Given the description of an element on the screen output the (x, y) to click on. 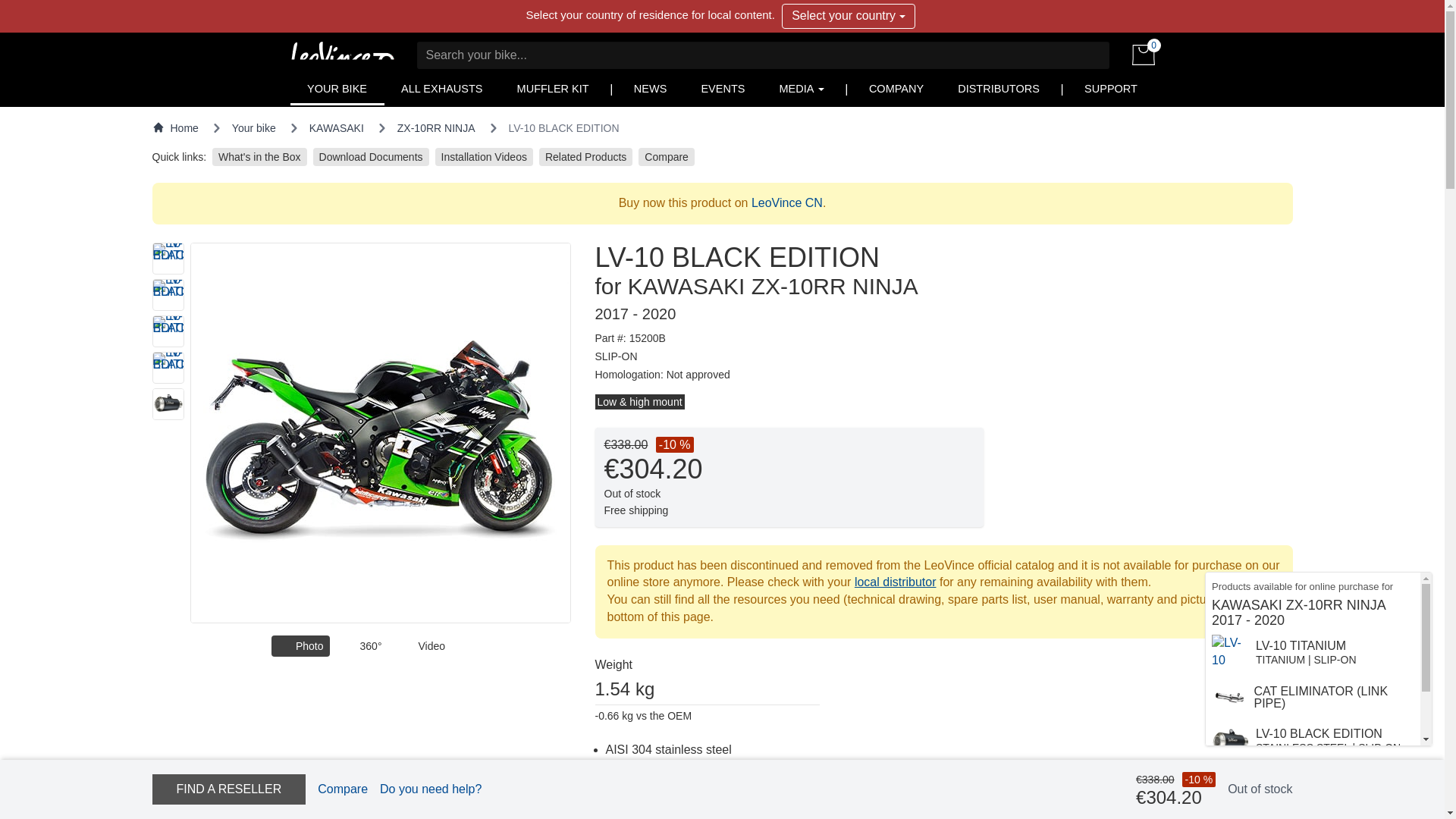
LV-10 BLACK EDITION (167, 368)
DISTRIBUTORS (998, 89)
Download Documents (371, 157)
YOUR BIKE (336, 89)
LeoVince CN (786, 202)
70 years of LeoVince (341, 54)
LV-10 BLACK EDITION (167, 258)
MEDIA (801, 89)
LV-10 BLACK EDITION (167, 295)
Home (174, 127)
